Given the description of an element on the screen output the (x, y) to click on. 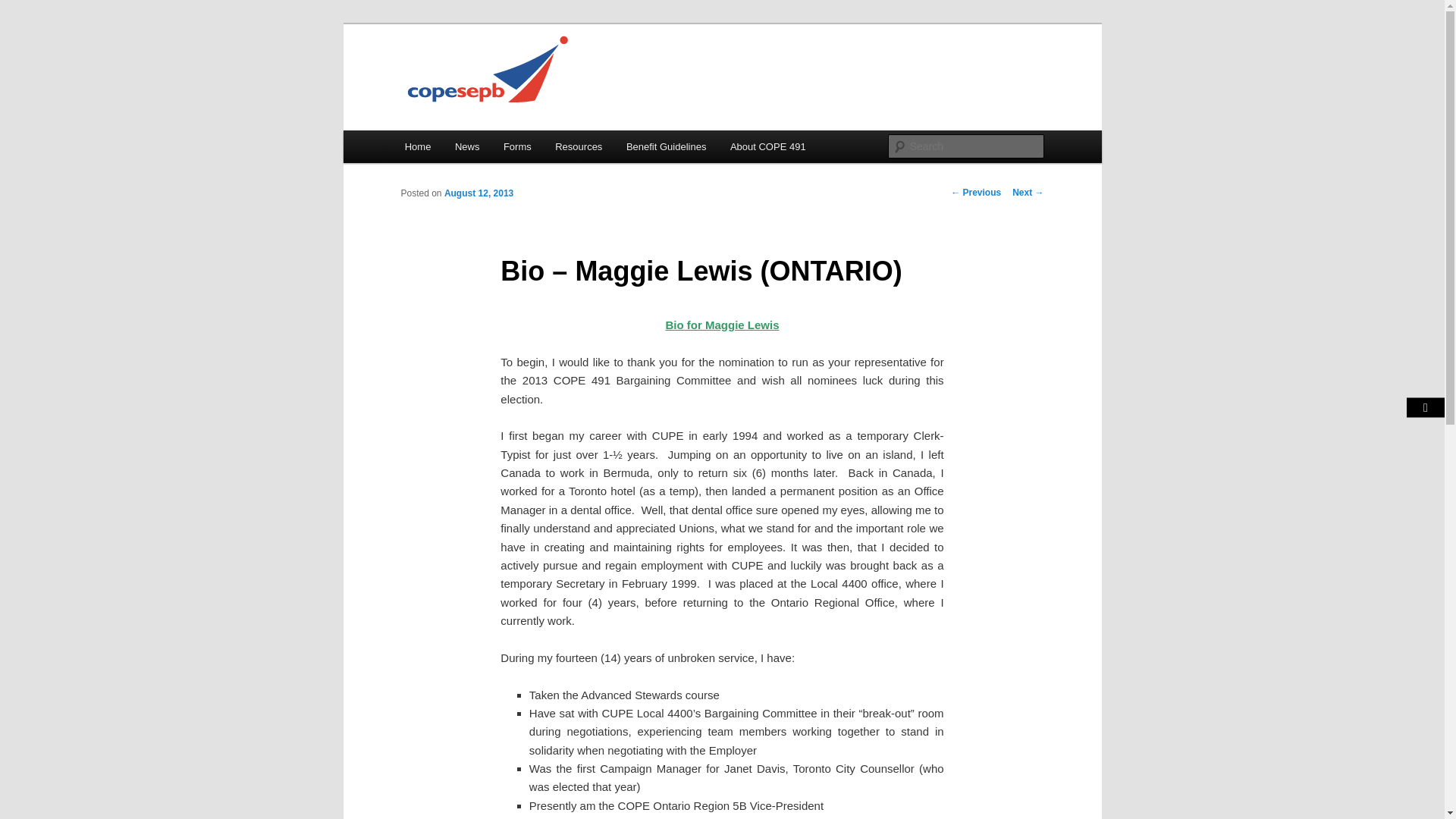
August 12, 2013 (478, 193)
Benefit Guidelines (665, 146)
News (467, 146)
Home (417, 146)
About COPE 491 (766, 146)
Forms (517, 146)
Search (24, 8)
10:39 am (478, 193)
COPE 491 (454, 78)
Resources (578, 146)
